Given the description of an element on the screen output the (x, y) to click on. 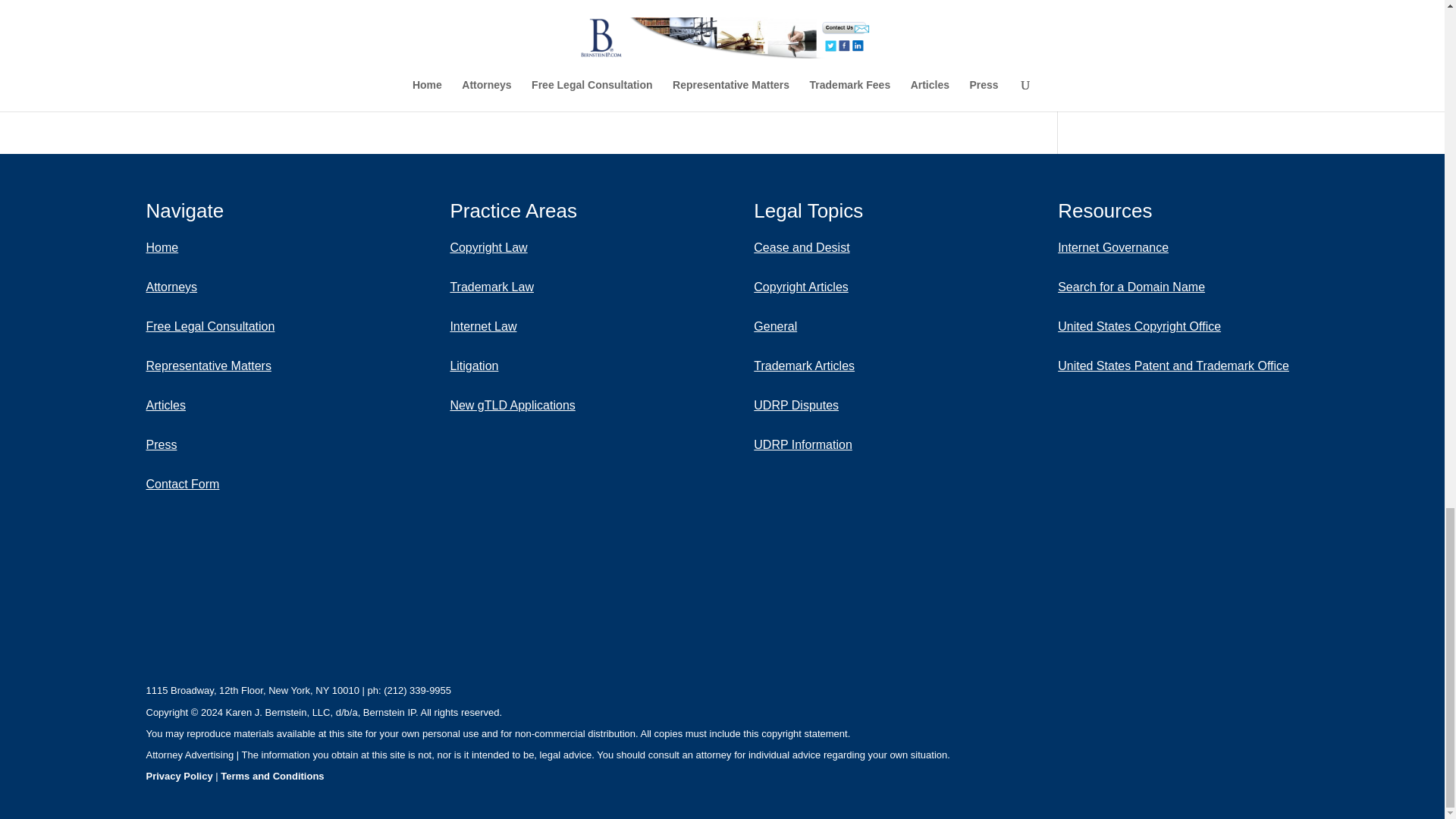
Bernstein IP Attorneys (210, 287)
Legal Consultation from Bernstein IP (210, 326)
Representative Matters (210, 365)
Copyright Law (512, 247)
gTLD Applications (512, 405)
Internet Law (512, 326)
Copyright Articles (808, 287)
Bernstein IP Representative Matters (210, 365)
Home (210, 247)
Internet Law (512, 326)
